Given the description of an element on the screen output the (x, y) to click on. 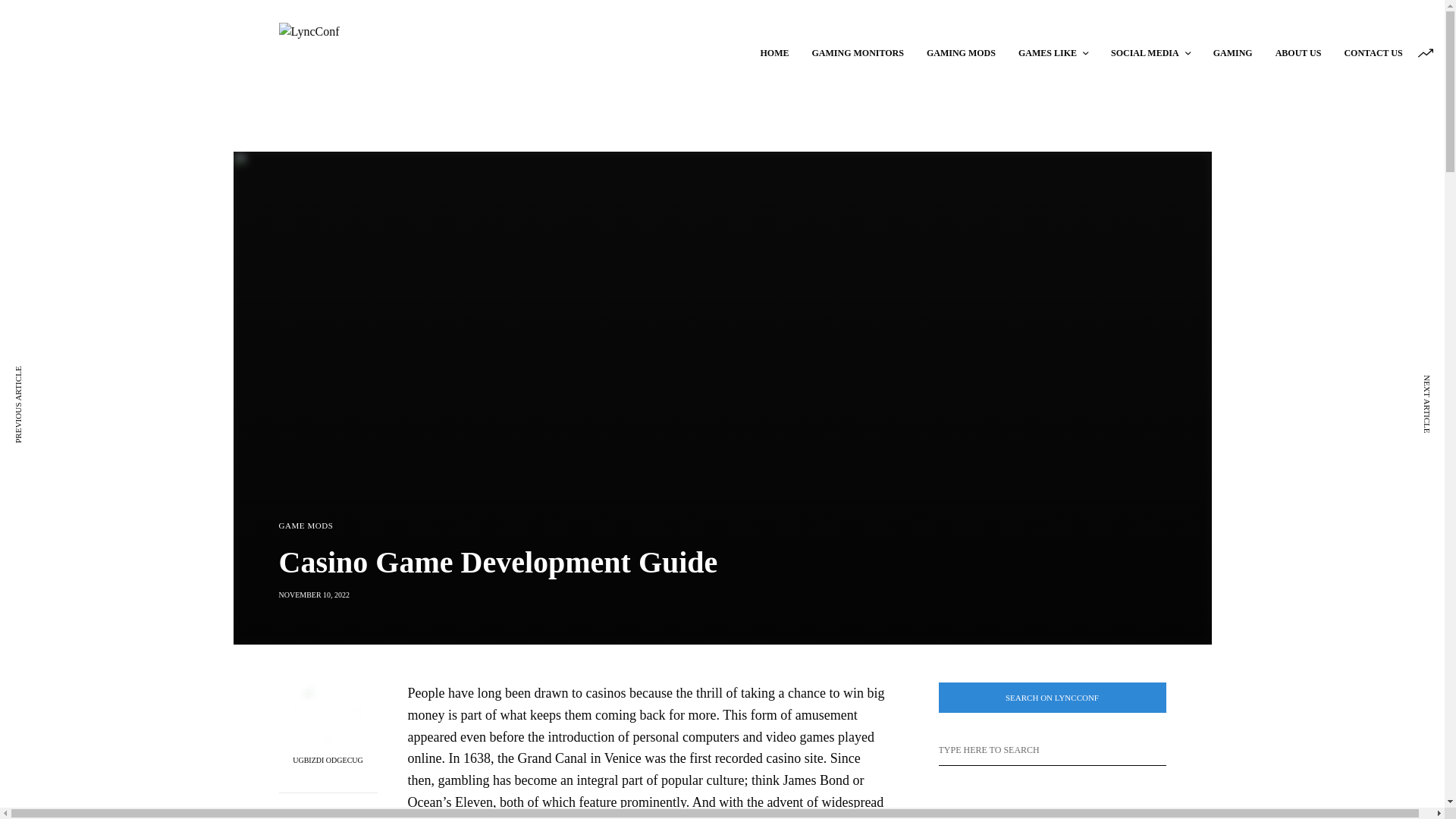
LyncConf (506, 52)
GAME MODS (306, 525)
LyncConf (87, 30)
UGBIZDI ODGECUG (328, 760)
